Given the description of an element on the screen output the (x, y) to click on. 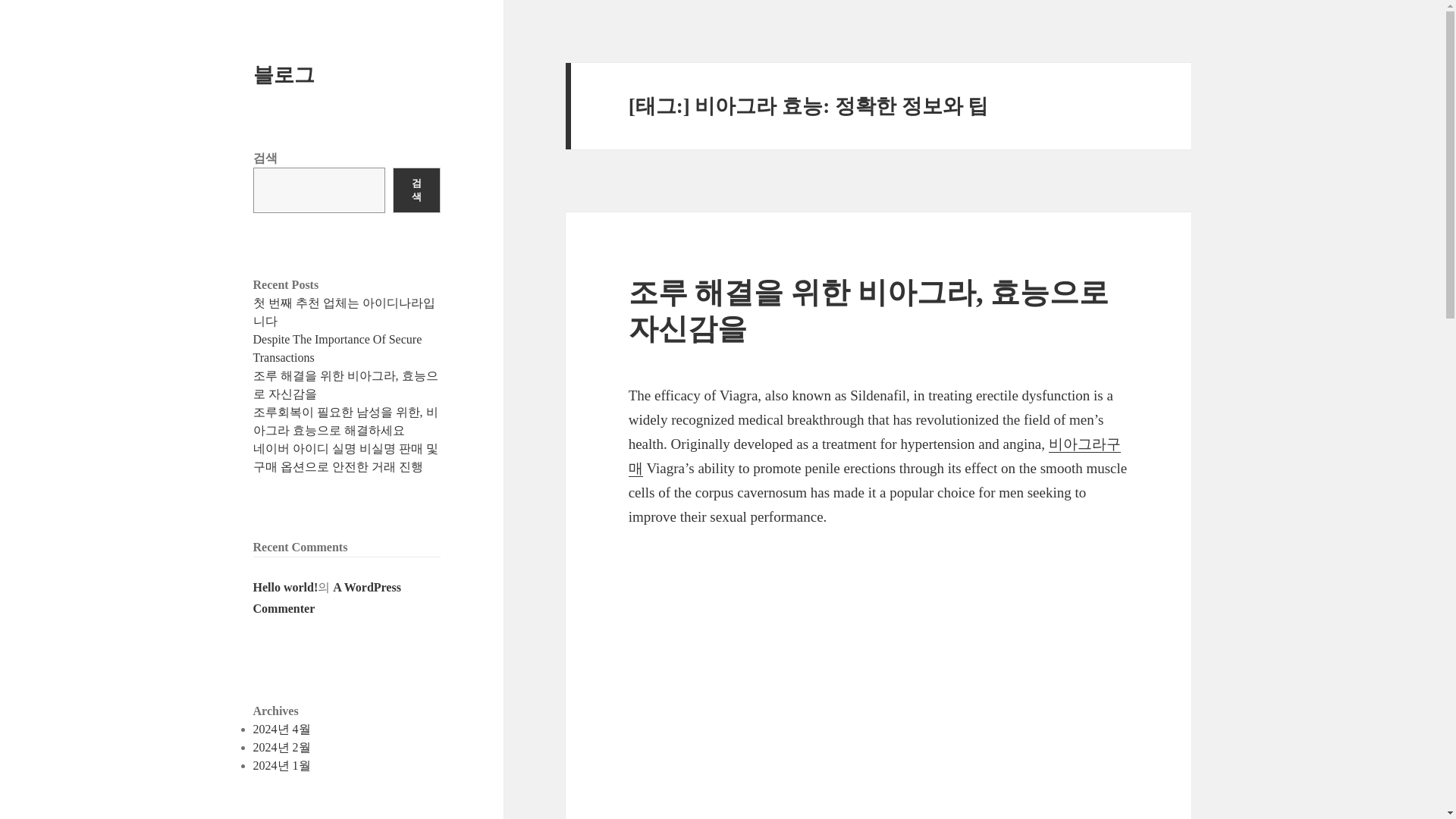
A WordPress Commenter (327, 597)
Hello world! (285, 586)
Despite The Importance Of Secure Transactions (337, 347)
